Given the description of an element on the screen output the (x, y) to click on. 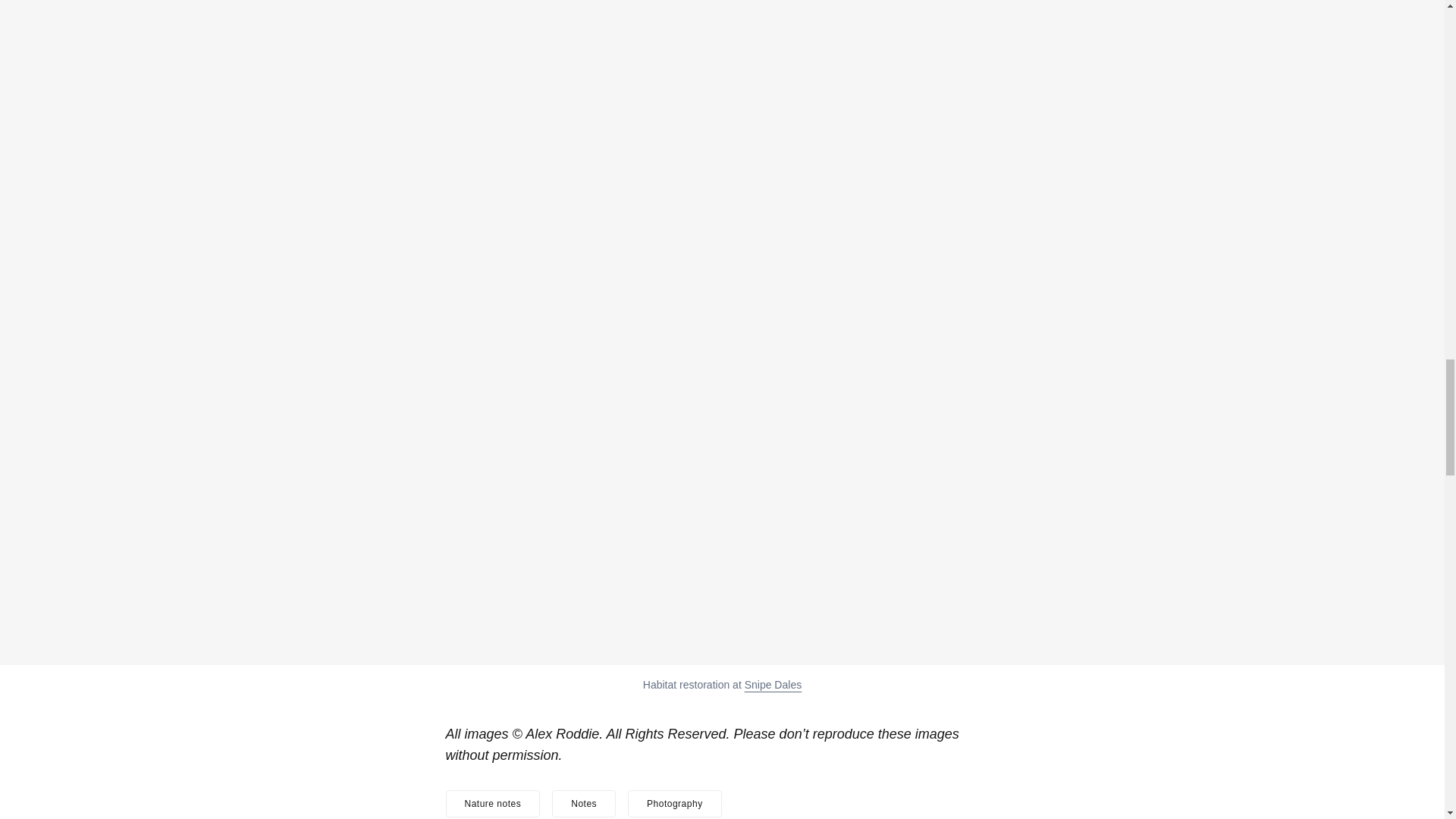
Notes (583, 803)
Photography (674, 803)
Nature notes (492, 803)
Snipe Dales (773, 684)
